Given the description of an element on the screen output the (x, y) to click on. 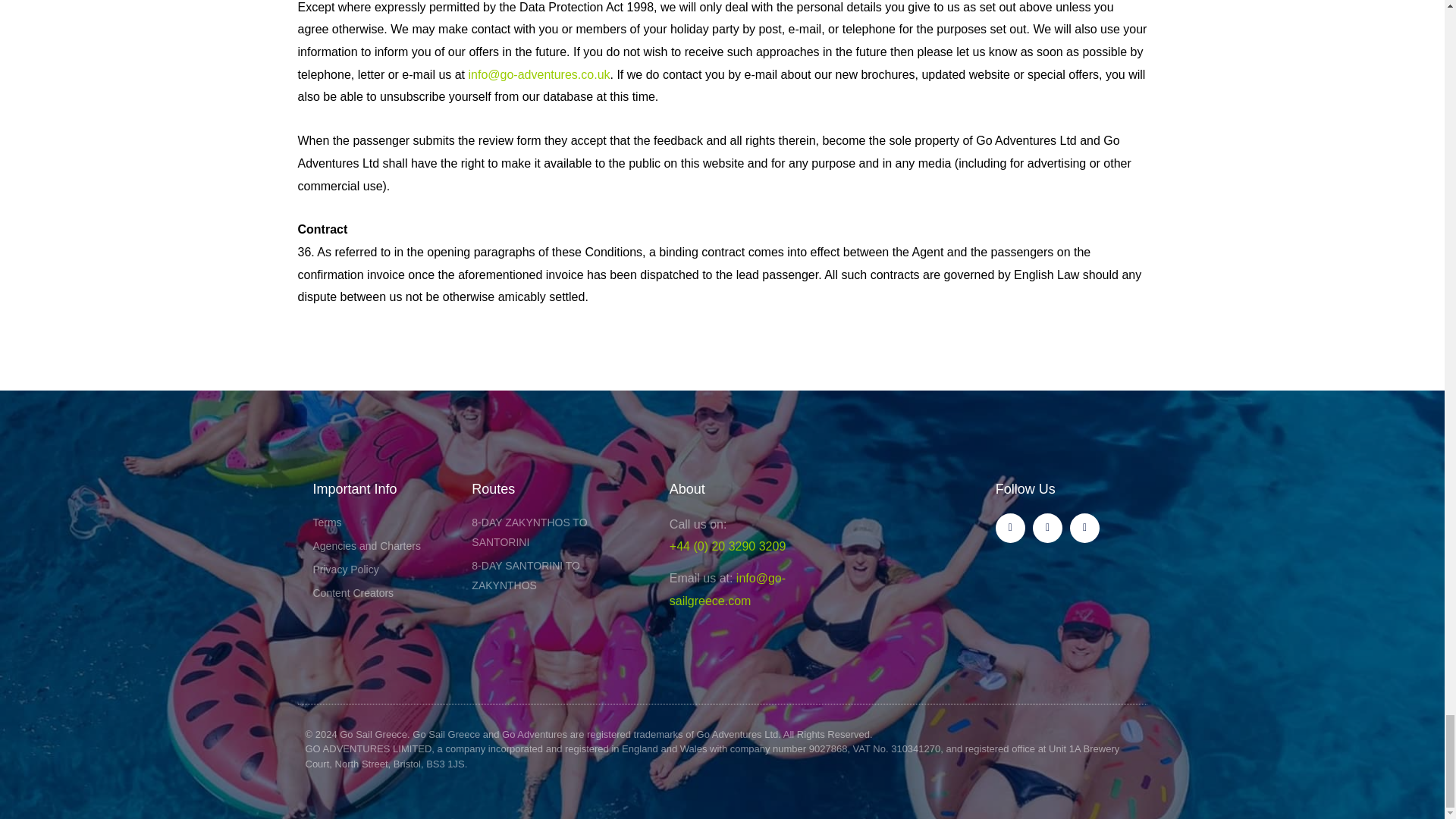
Agencies and Charters (380, 546)
Terms (380, 523)
